Given the description of an element on the screen output the (x, y) to click on. 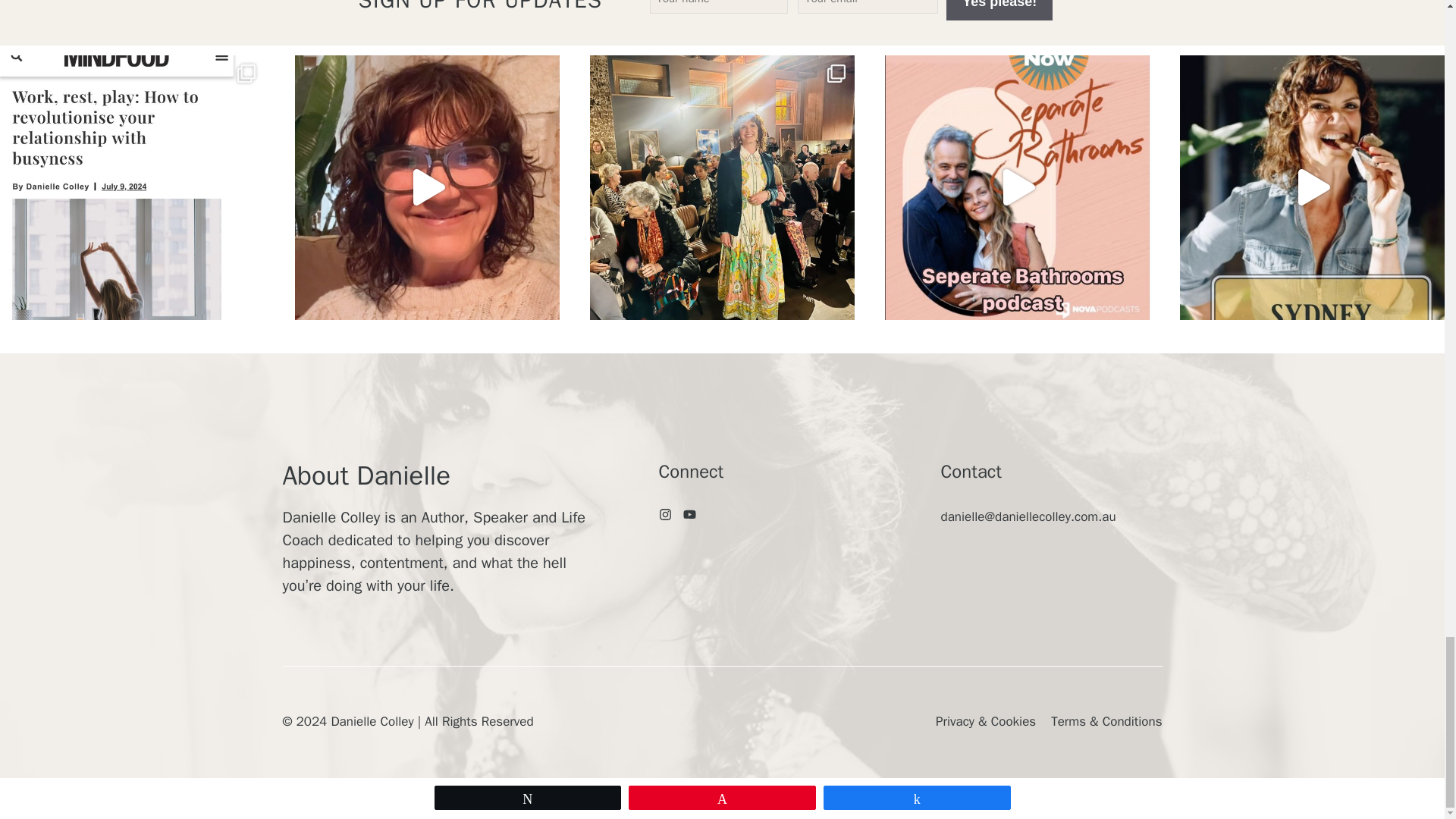
Yes please! (999, 10)
